Given the description of an element on the screen output the (x, y) to click on. 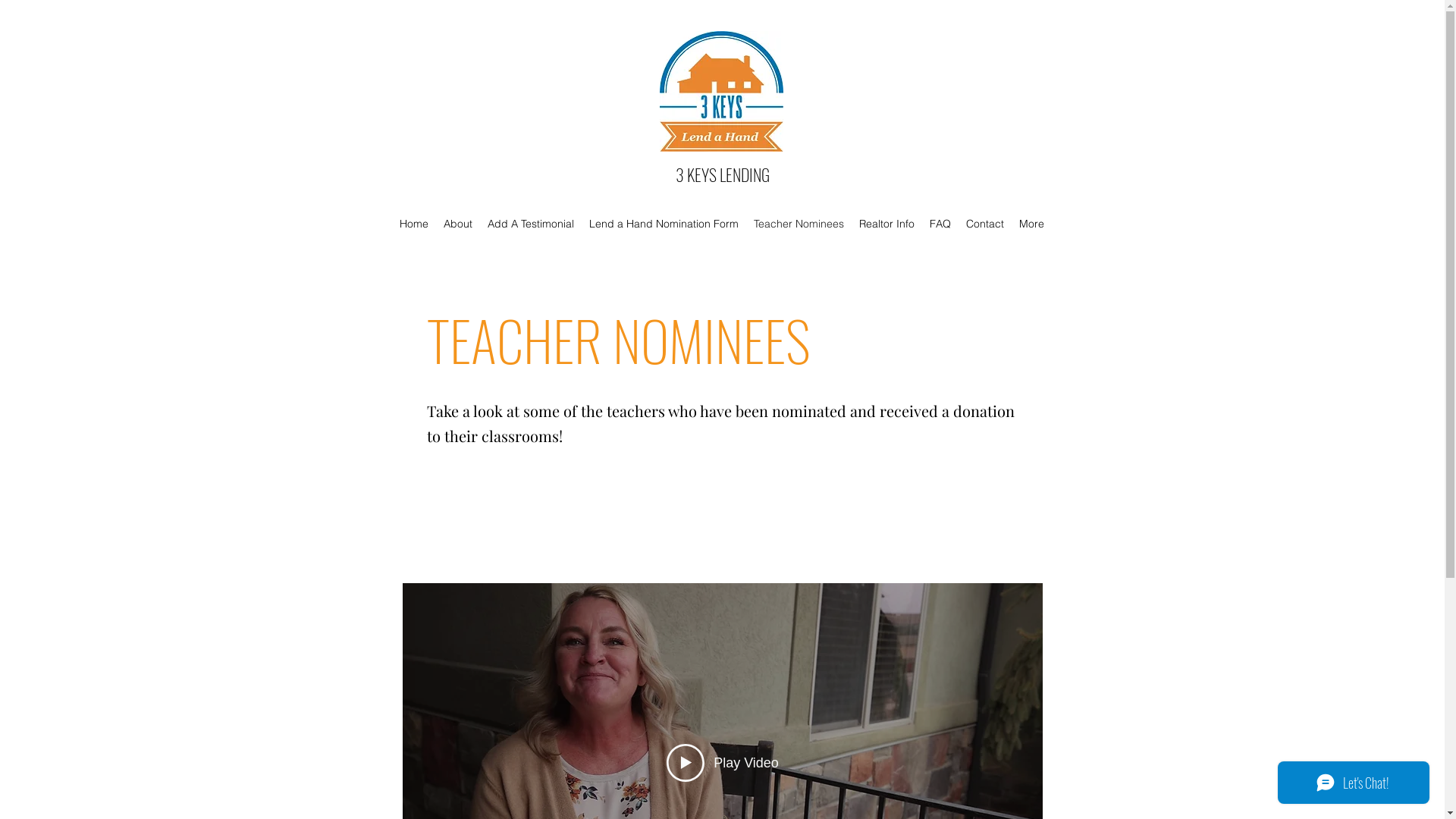
About Element type: text (458, 223)
Play Video Element type: text (722, 762)
Home Element type: text (414, 223)
Lend a Hand Nomination Form Element type: text (663, 223)
3 KEYS LENDING Element type: text (722, 174)
Teacher Nominees Element type: text (798, 223)
Contact Element type: text (984, 223)
FAQ Element type: text (940, 223)
Add A Testimonial Element type: text (530, 223)
Realtor Info Element type: text (886, 223)
